Given the description of an element on the screen output the (x, y) to click on. 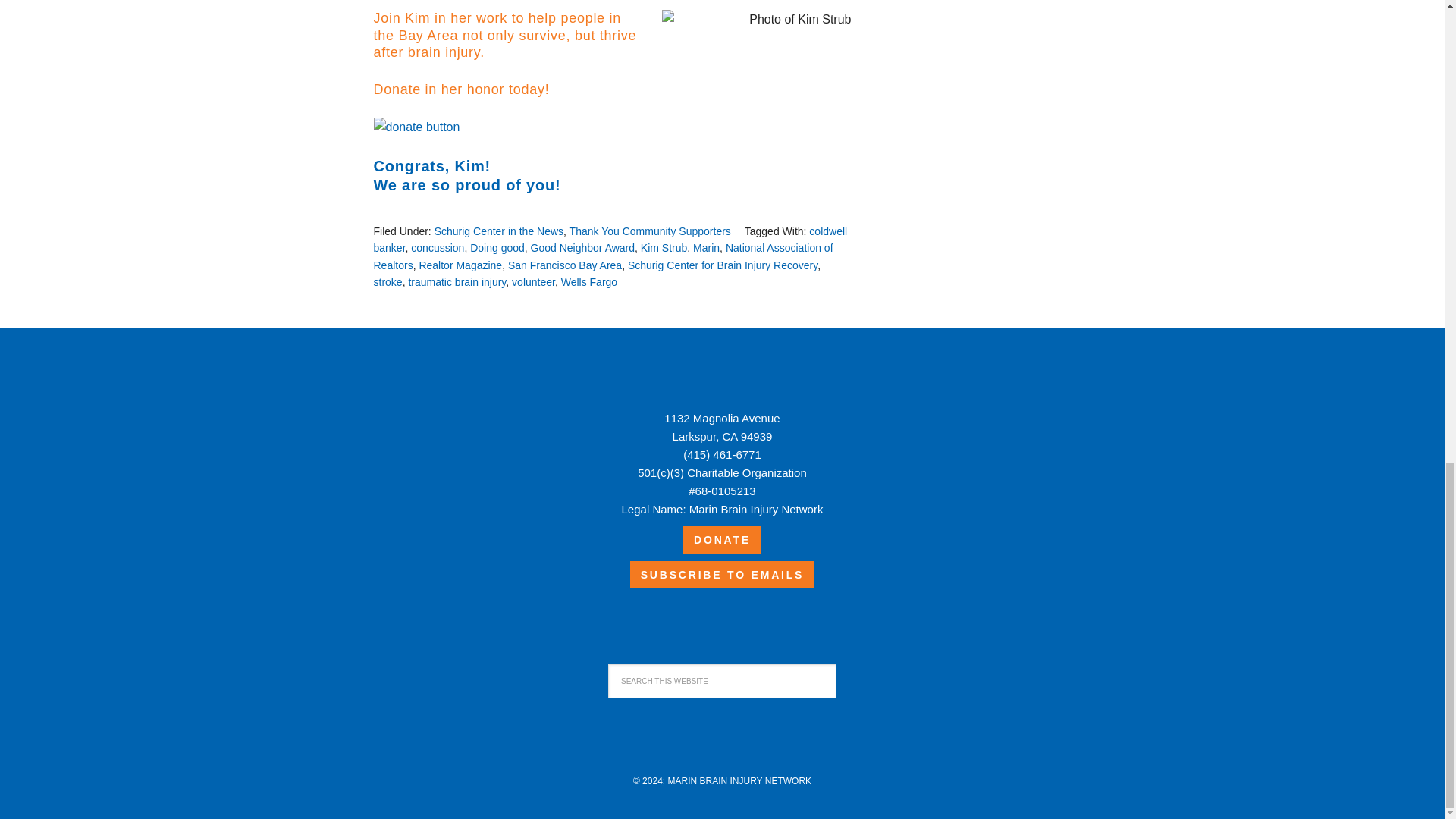
Schurig Center in the News (498, 231)
Thank You Community Supporters (649, 231)
